Given the description of an element on the screen output the (x, y) to click on. 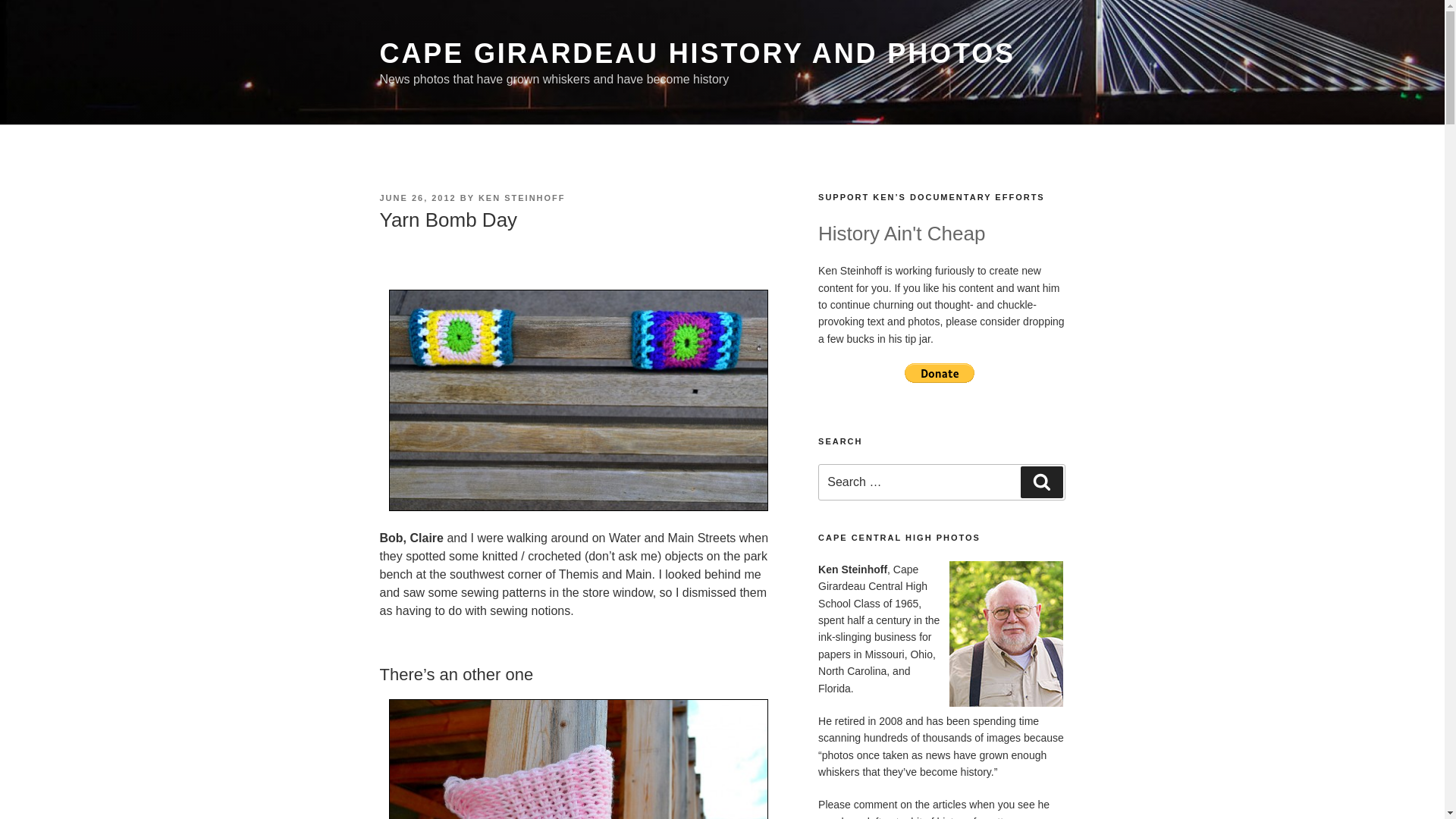
JUNE 26, 2012 (416, 197)
KEN STEINHOFF (522, 197)
CAPE GIRARDEAU HISTORY AND PHOTOS (696, 52)
